Given the description of an element on the screen output the (x, y) to click on. 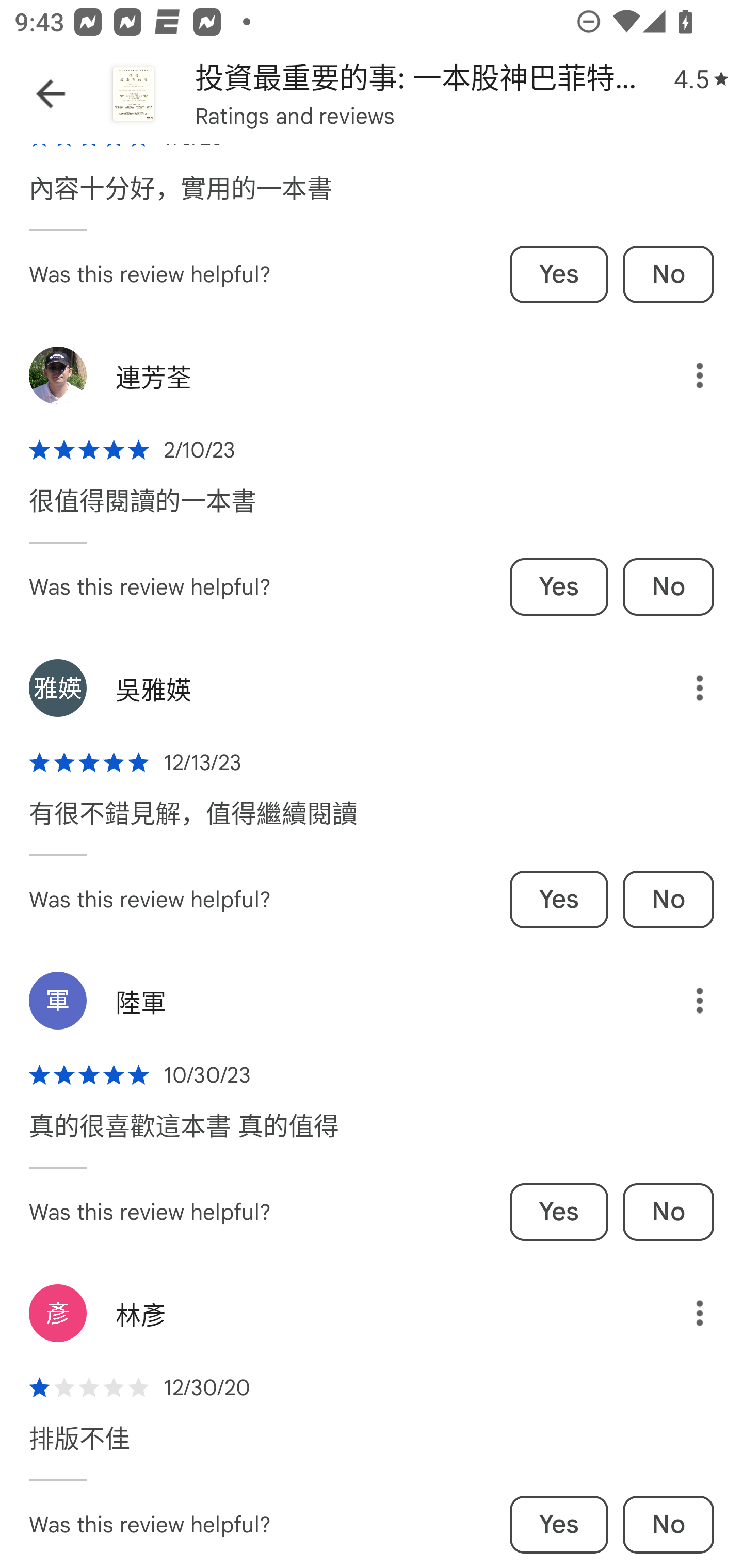
Navigate up (50, 93)
內容十分好，實用的一本書 (180, 197)
Yes (558, 274)
No (668, 274)
Options (685, 375)
很值得閱讀的一本書 (142, 510)
Yes (558, 587)
No (668, 587)
Options (685, 687)
有很不錯見解，值得繼續閱讀 (193, 823)
Yes (558, 899)
No (668, 899)
Options (685, 1001)
真的很喜歡這本書 真的值得 (183, 1135)
Yes (558, 1211)
No (668, 1211)
Options (685, 1313)
排版不佳 (79, 1448)
Yes (558, 1524)
No (668, 1524)
